Given the description of an element on the screen output the (x, y) to click on. 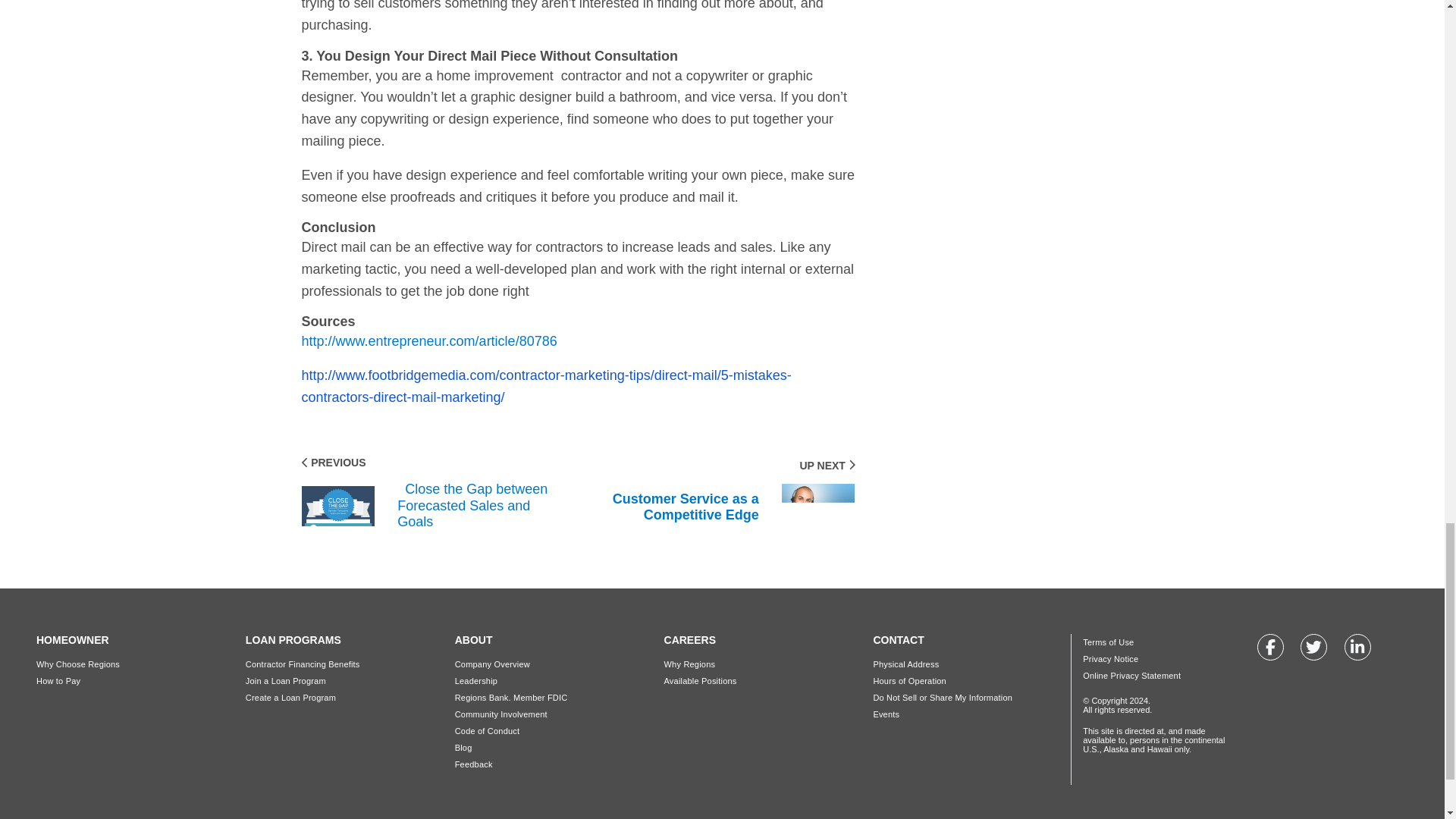
Regions Twitter (1314, 647)
Regions LinkedIn (1357, 646)
Regions Facebook (1270, 646)
Regions Twitter (1313, 646)
